Given the description of an element on the screen output the (x, y) to click on. 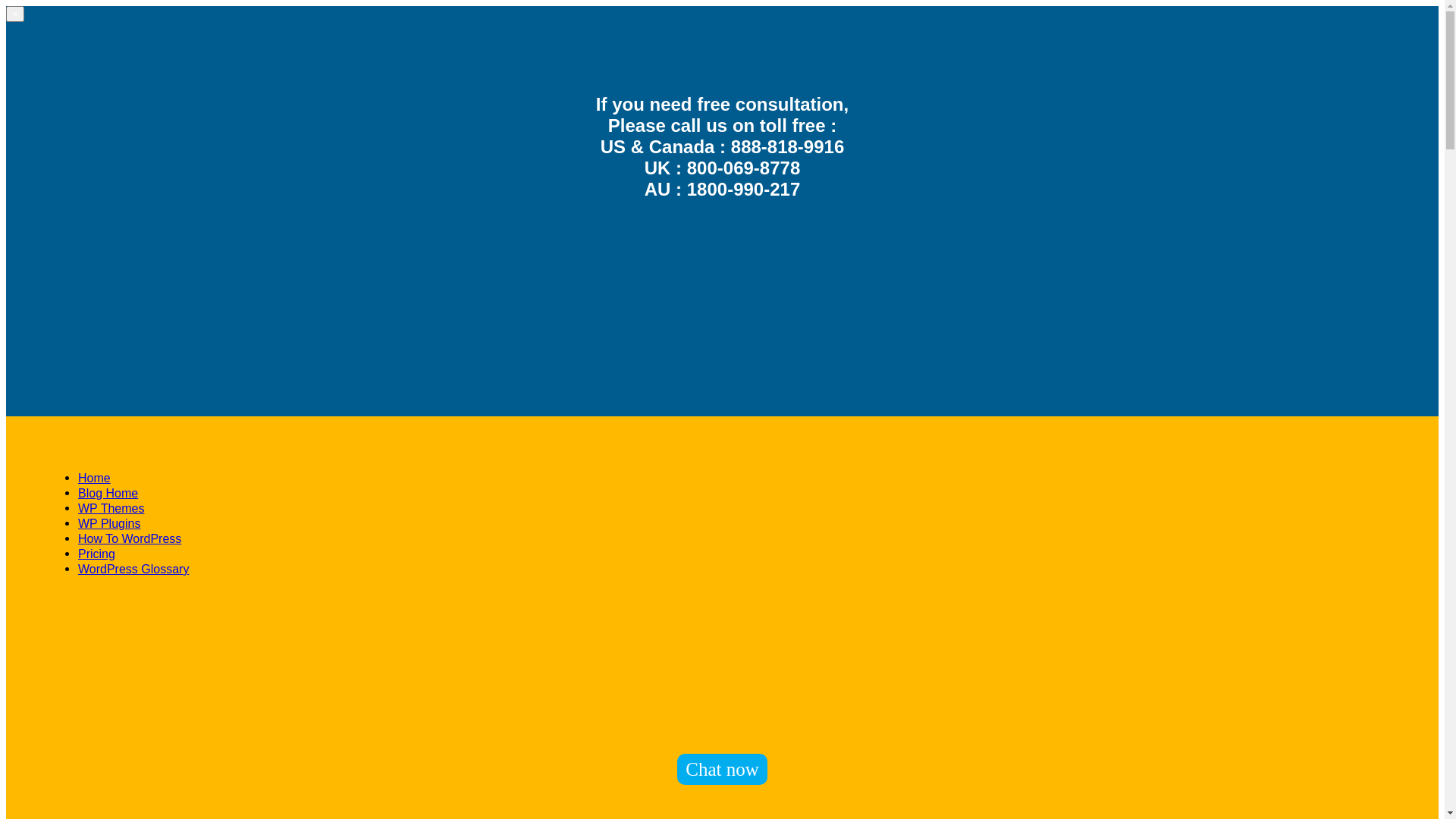
888-818-9916 Element type: text (787, 146)
1800-990-217 Element type: text (743, 188)
WP Themes Element type: text (111, 508)
Chat now Element type: text (722, 768)
Pricing Element type: text (96, 553)
How To WordPress Element type: text (129, 538)
800-069-8778 Element type: text (743, 167)
Blog Home Element type: text (108, 492)
WordPress Glossary Element type: text (133, 568)
Home Element type: text (94, 477)
WP Plugins Element type: text (109, 523)
